Given the description of an element on the screen output the (x, y) to click on. 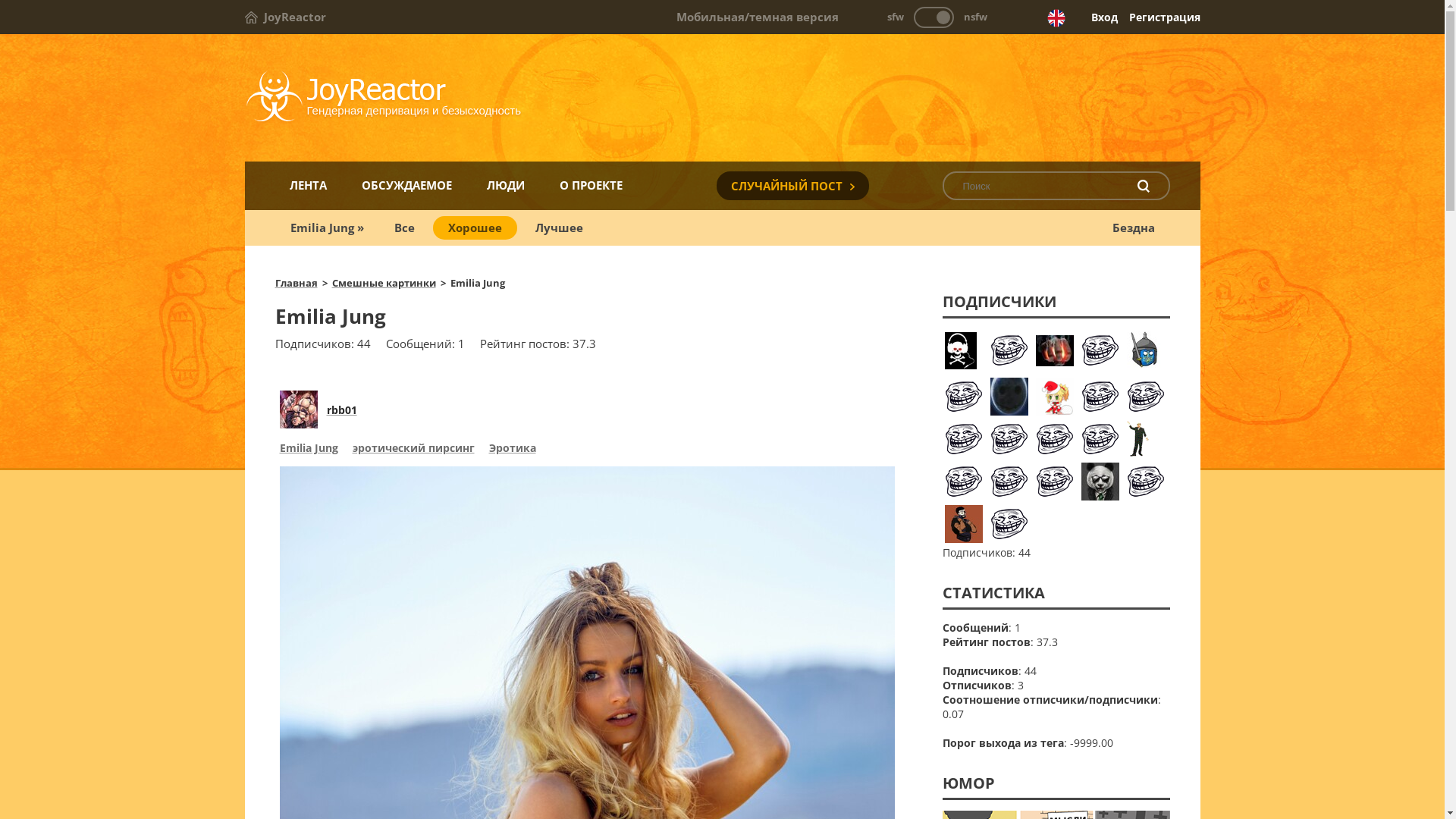
SlazZy Element type: hover (963, 396)
Stan_Ley Element type: hover (963, 481)
English version Element type: hover (1055, 18)
9en1u5 Element type: hover (1009, 439)
JustName Element type: hover (1145, 350)
Elric Alhague Element type: hover (963, 523)
Radoss Element type: hover (963, 351)
OverlorDemitrich Element type: hover (1145, 396)
Emilia Jung Element type: text (308, 449)
BubbleBeard Element type: hover (1054, 396)
remasterd Element type: hover (1054, 481)
Baltazar007 Element type: hover (1100, 481)
naked Element type: hover (1009, 396)
Silverstone Element type: hover (1009, 481)
sl1kerzz Element type: hover (1100, 396)
Ganibal Element type: hover (1054, 354)
javaman Element type: hover (1009, 523)
rbb01 Element type: text (341, 408)
bi4qua Element type: hover (1009, 350)
Kriakioz Element type: hover (1145, 481)
Garka Element type: hover (1100, 439)
Leshocs Element type: hover (1100, 350)
ShadeXXX Element type: hover (963, 439)
JoyReactor Element type: text (284, 17)
Focolare Element type: hover (1145, 439)
